Given the description of an element on the screen output the (x, y) to click on. 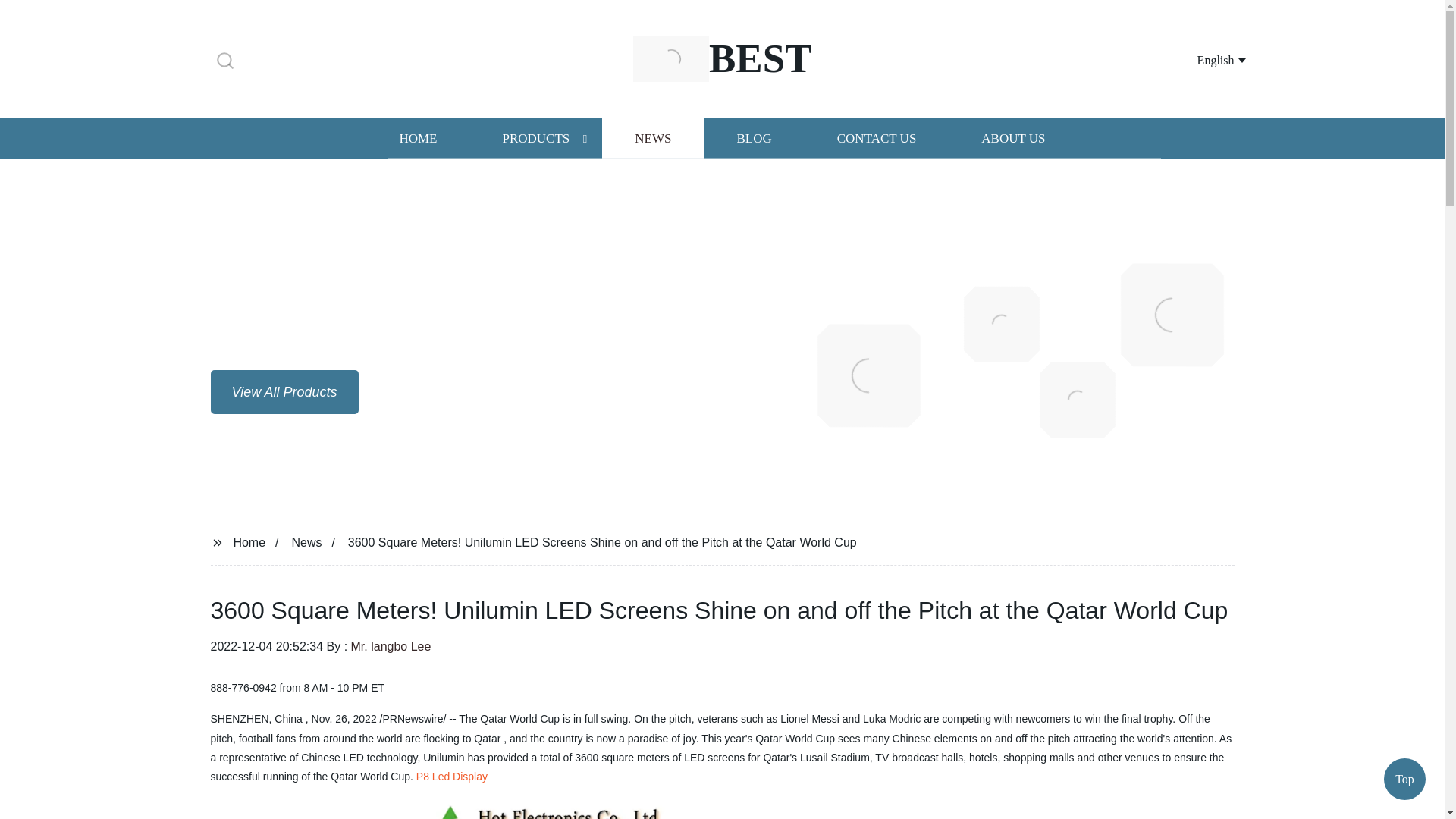
English (1203, 59)
Top (1404, 777)
HOME (417, 137)
CONTACT US (877, 137)
News (306, 541)
ABOUT US (1013, 137)
Home (248, 541)
NEWS (652, 137)
English (1203, 59)
PRODUCTS (535, 137)
